Given the description of an element on the screen output the (x, y) to click on. 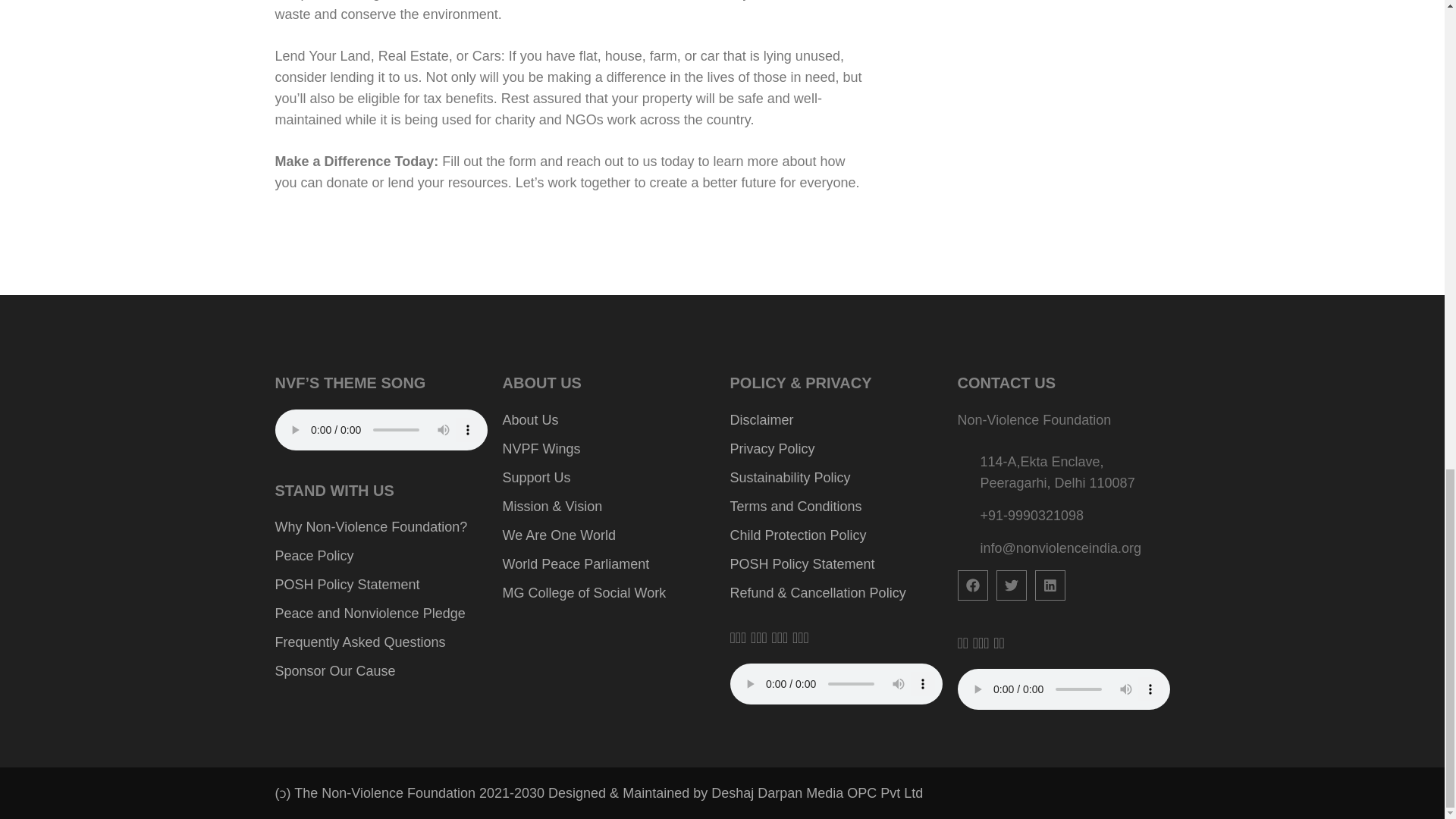
facebook (971, 585)
linkedin (1048, 585)
twitter (1010, 585)
